Given the description of an element on the screen output the (x, y) to click on. 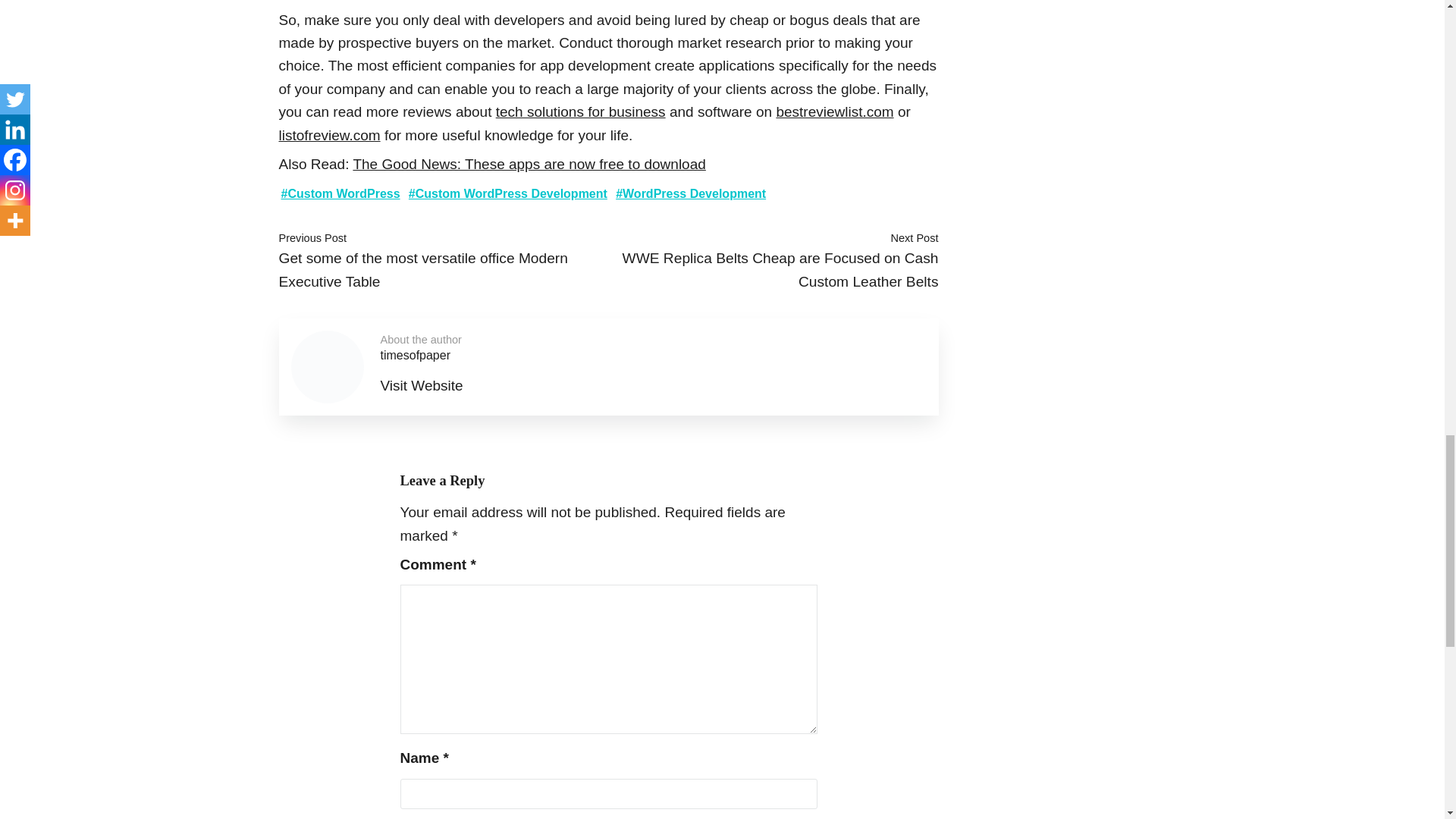
bestreviewlist.com (834, 111)
listofreview.com (329, 135)
The Good News: These apps are now free to download (528, 163)
tech solutions for business (580, 111)
